Given the description of an element on the screen output the (x, y) to click on. 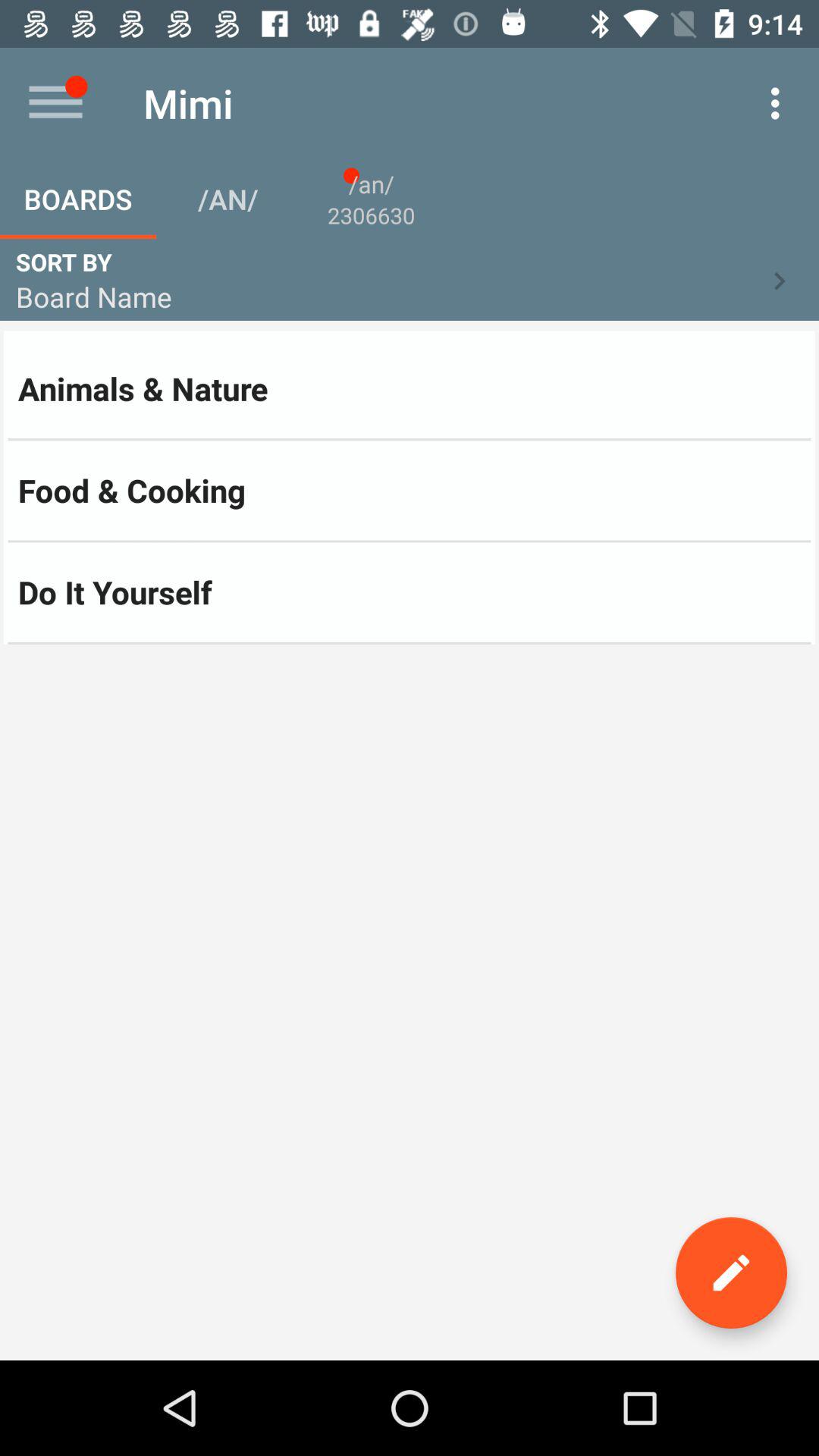
turn on icon next to the mimi (779, 103)
